Given the description of an element on the screen output the (x, y) to click on. 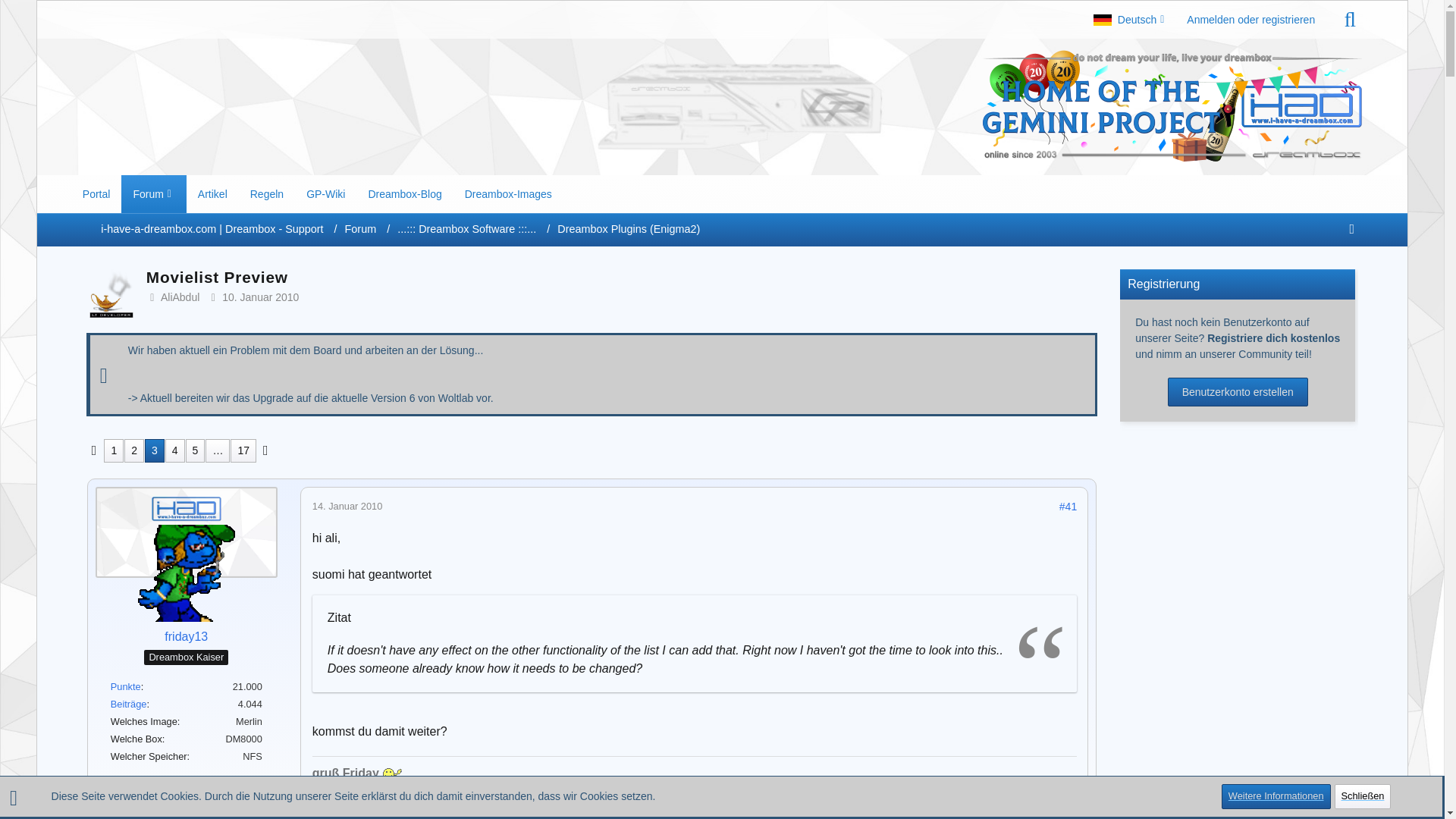
Dreambox-Images (507, 193)
10. Januar 2010, 20:00 (260, 297)
Forum (361, 228)
GP-Wiki (325, 193)
Dreambox-Blog (404, 193)
Forum (367, 229)
Regeln (266, 193)
10. Januar 2010 (260, 297)
Punkte (125, 686)
Deutsch (1127, 19)
...::: Dreambox Software :::... (466, 228)
...::: Dreambox Software :::... (473, 229)
Artikel (212, 193)
17 (243, 450)
friday13 (186, 636)
